Given the description of an element on the screen output the (x, y) to click on. 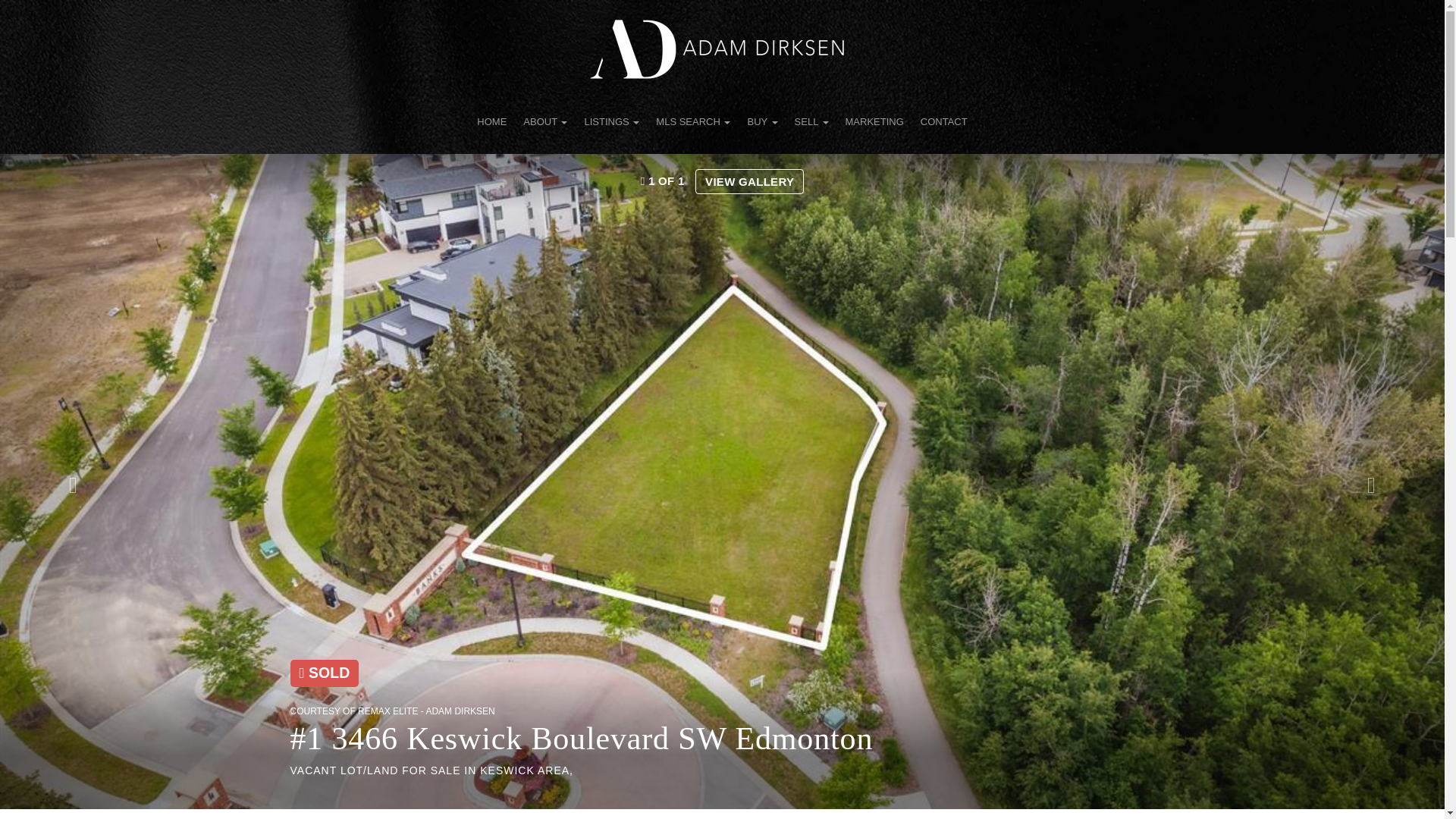
CONTACT (943, 121)
SELL (811, 121)
MARKETING (874, 121)
BUY (762, 121)
HOME (491, 121)
MLS SEARCH (692, 121)
VIEW GALLERY (749, 181)
LISTINGS (611, 121)
Adam Dirksen (716, 48)
ABOUT (545, 121)
